Given the description of an element on the screen output the (x, y) to click on. 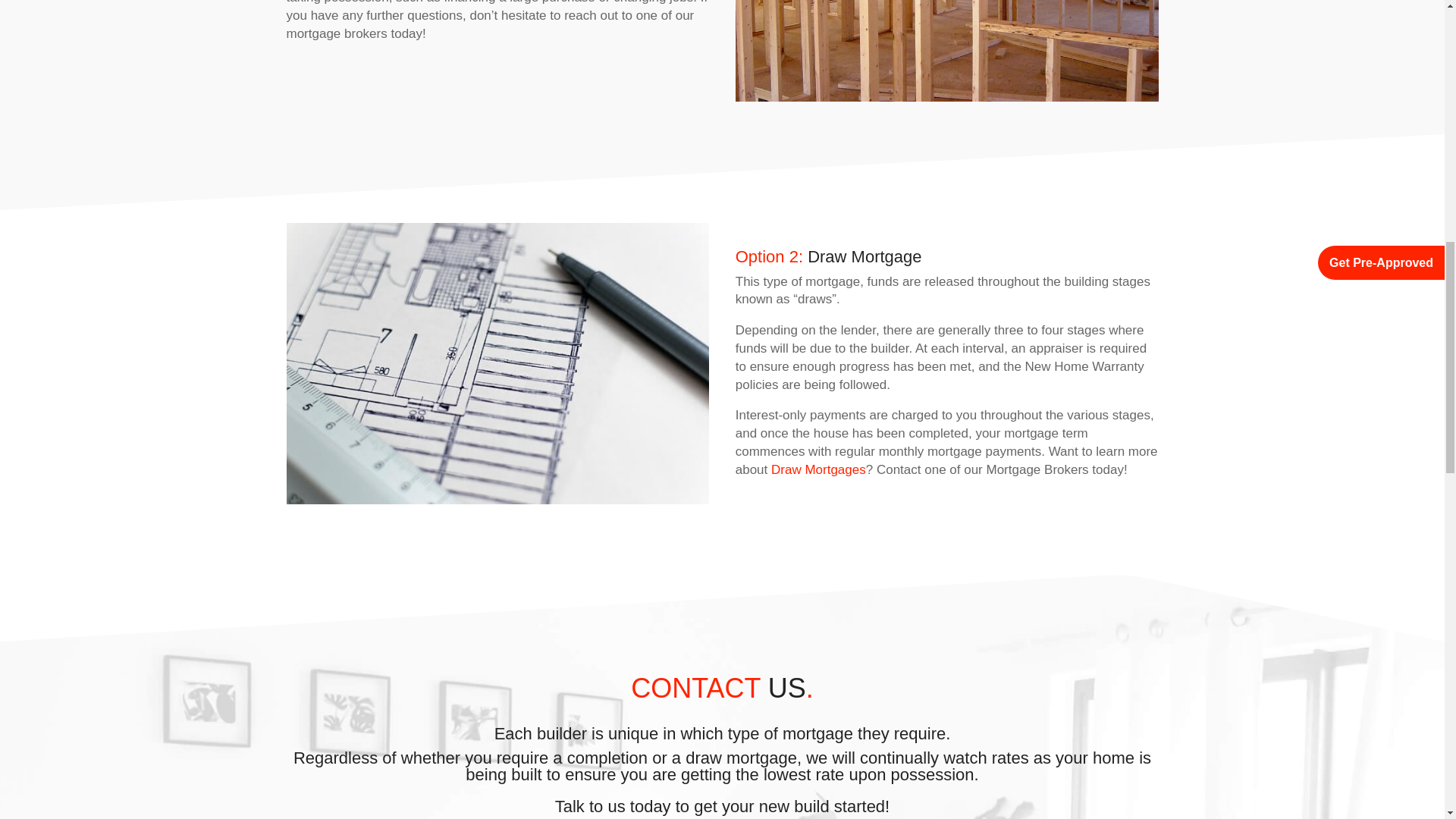
Building a Home Mortgage 2 (498, 363)
Build Home Mortgage (946, 50)
